Given the description of an element on the screen output the (x, y) to click on. 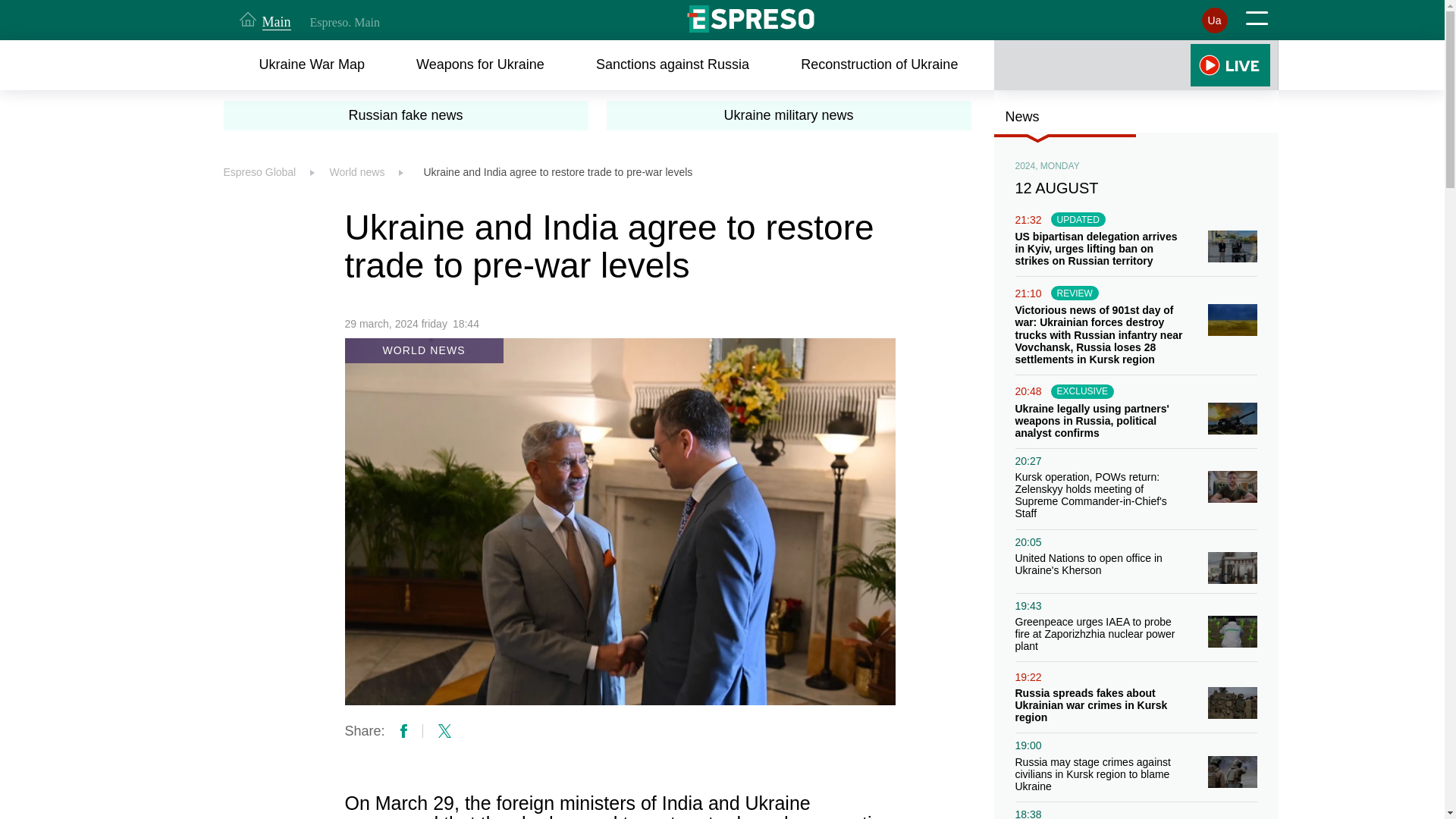
Espreso. Main (343, 22)
Main (265, 19)
Ua (1214, 20)
